Given the description of an element on the screen output the (x, y) to click on. 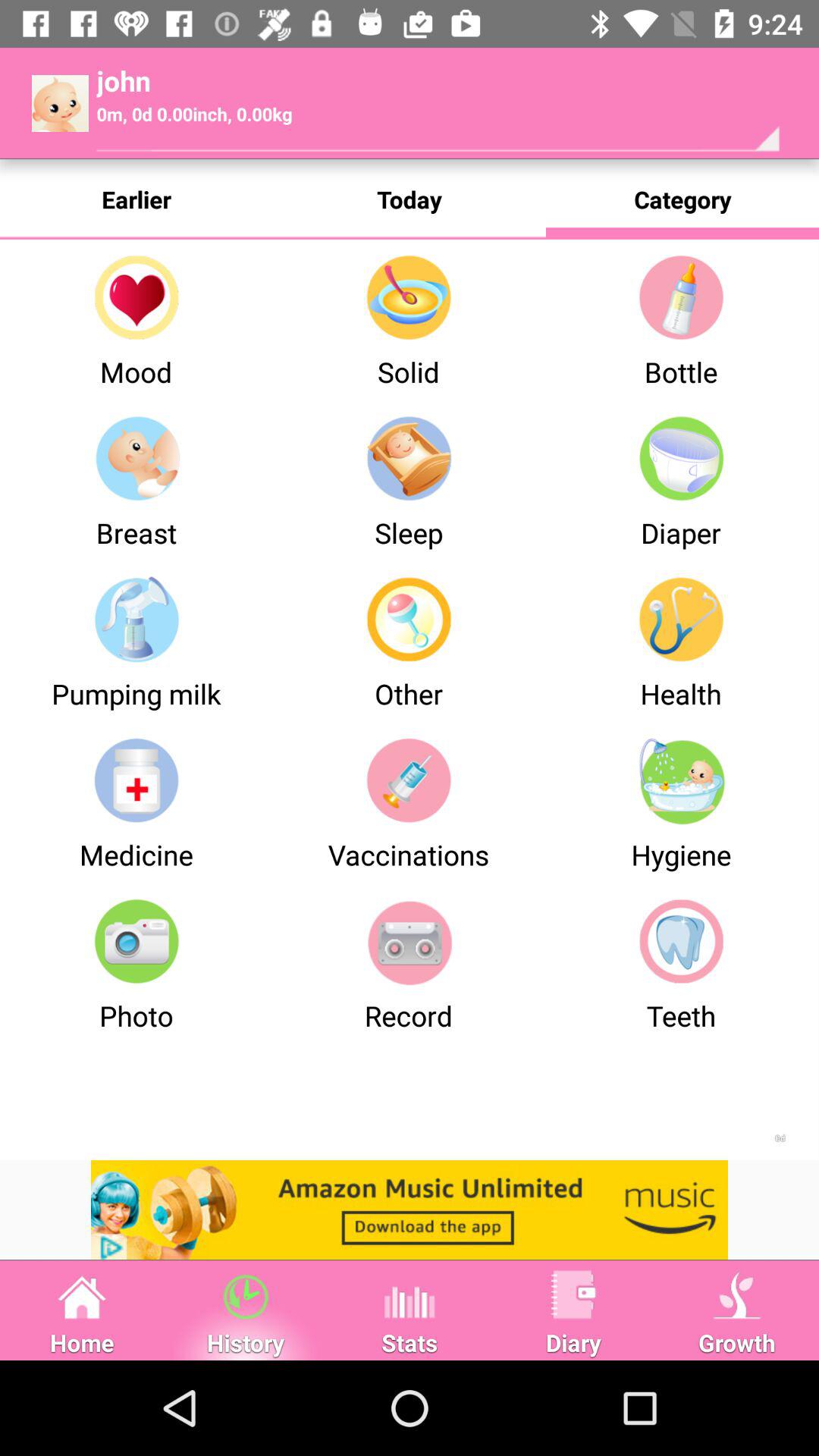
follow the banner (409, 1209)
